Given the description of an element on the screen output the (x, y) to click on. 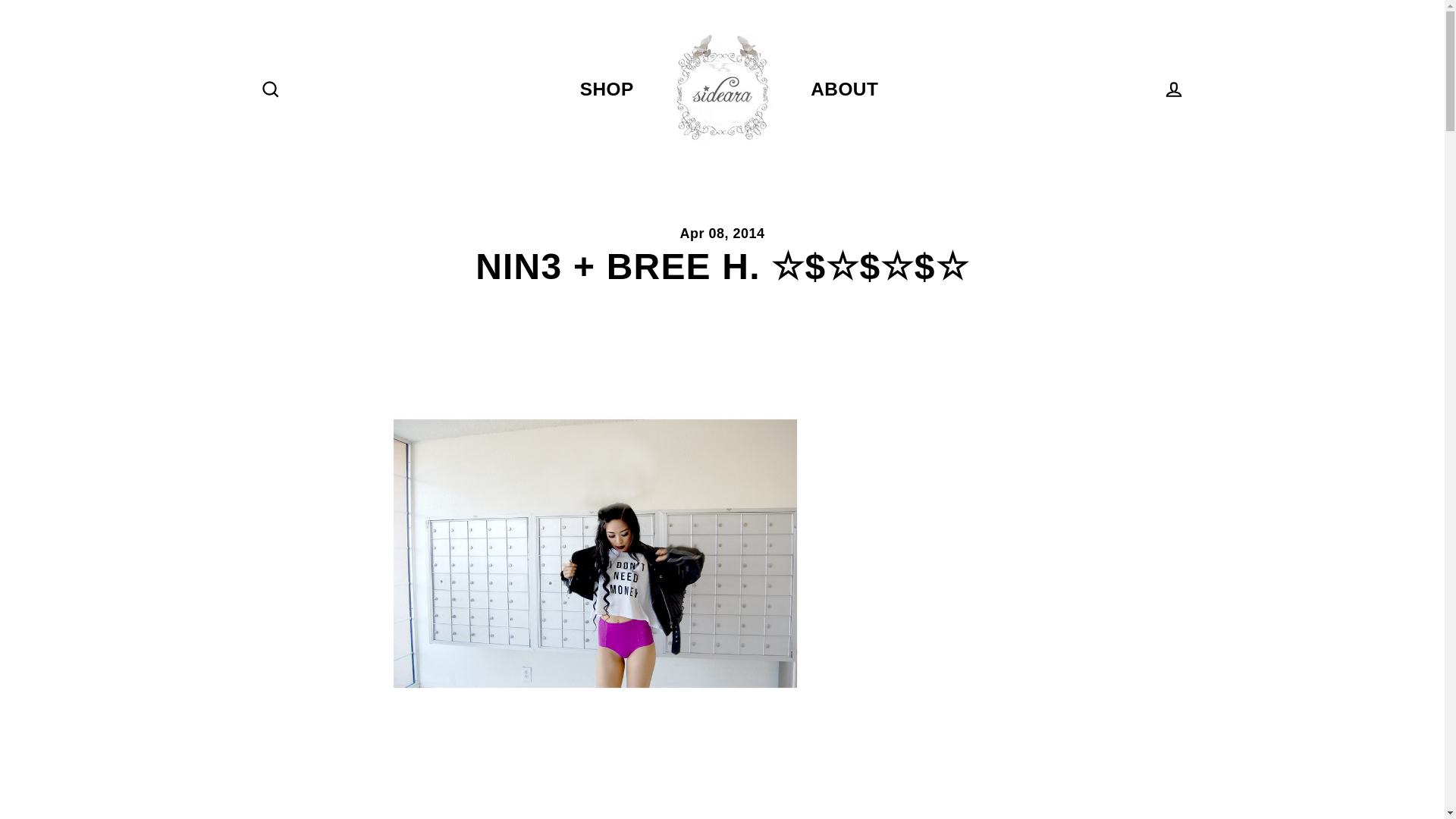
Search (269, 89)
SHOP (607, 89)
